Given the description of an element on the screen output the (x, y) to click on. 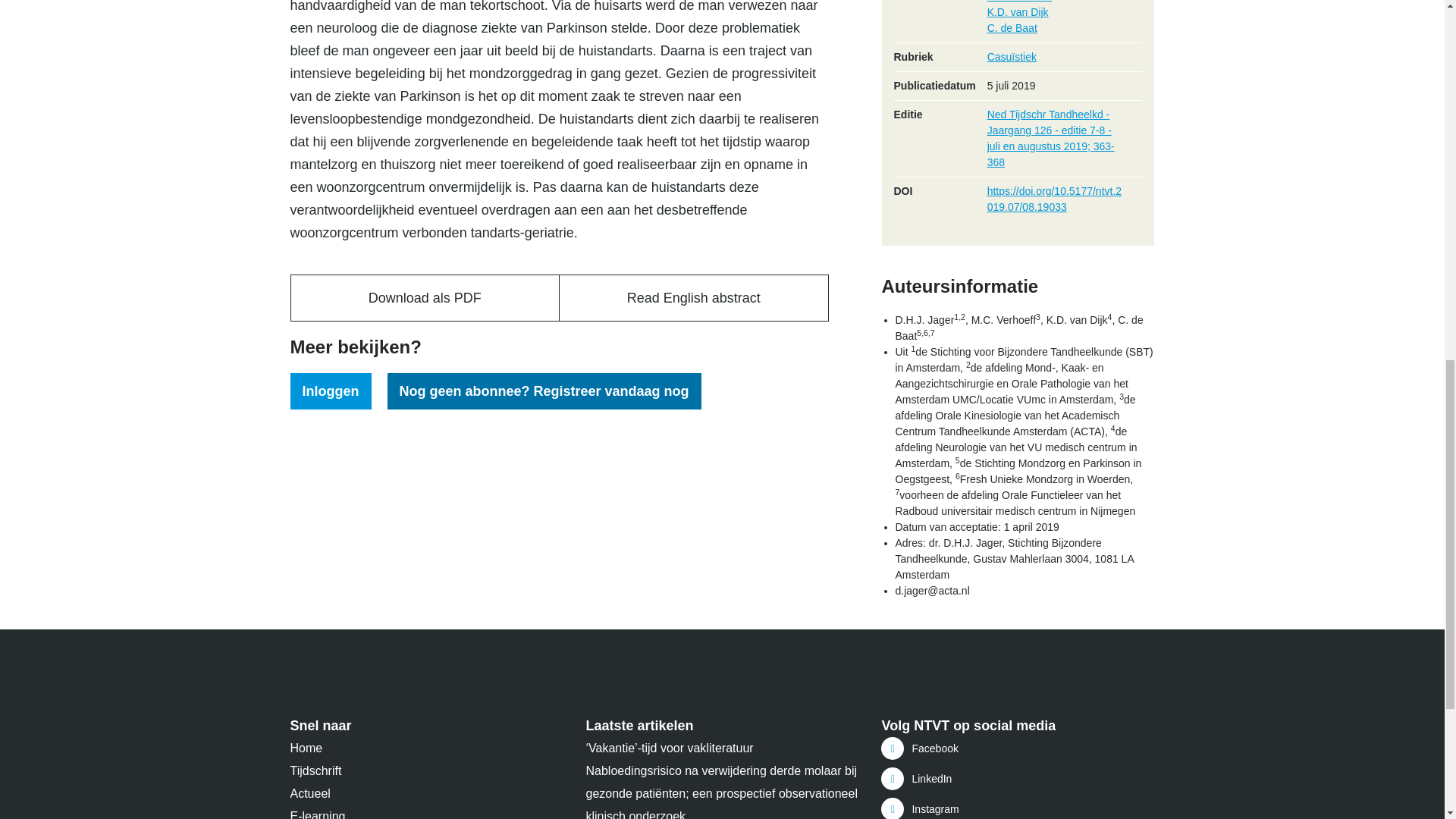
Nog geen abonnee? Registreer vandaag nog (544, 391)
Read English abstract (693, 298)
C. de Baat (1011, 28)
M.C. Verhoeff (1019, 1)
Inloggen (330, 391)
K.D. van Dijk (1017, 11)
Download als PDF (425, 298)
